Given the description of an element on the screen output the (x, y) to click on. 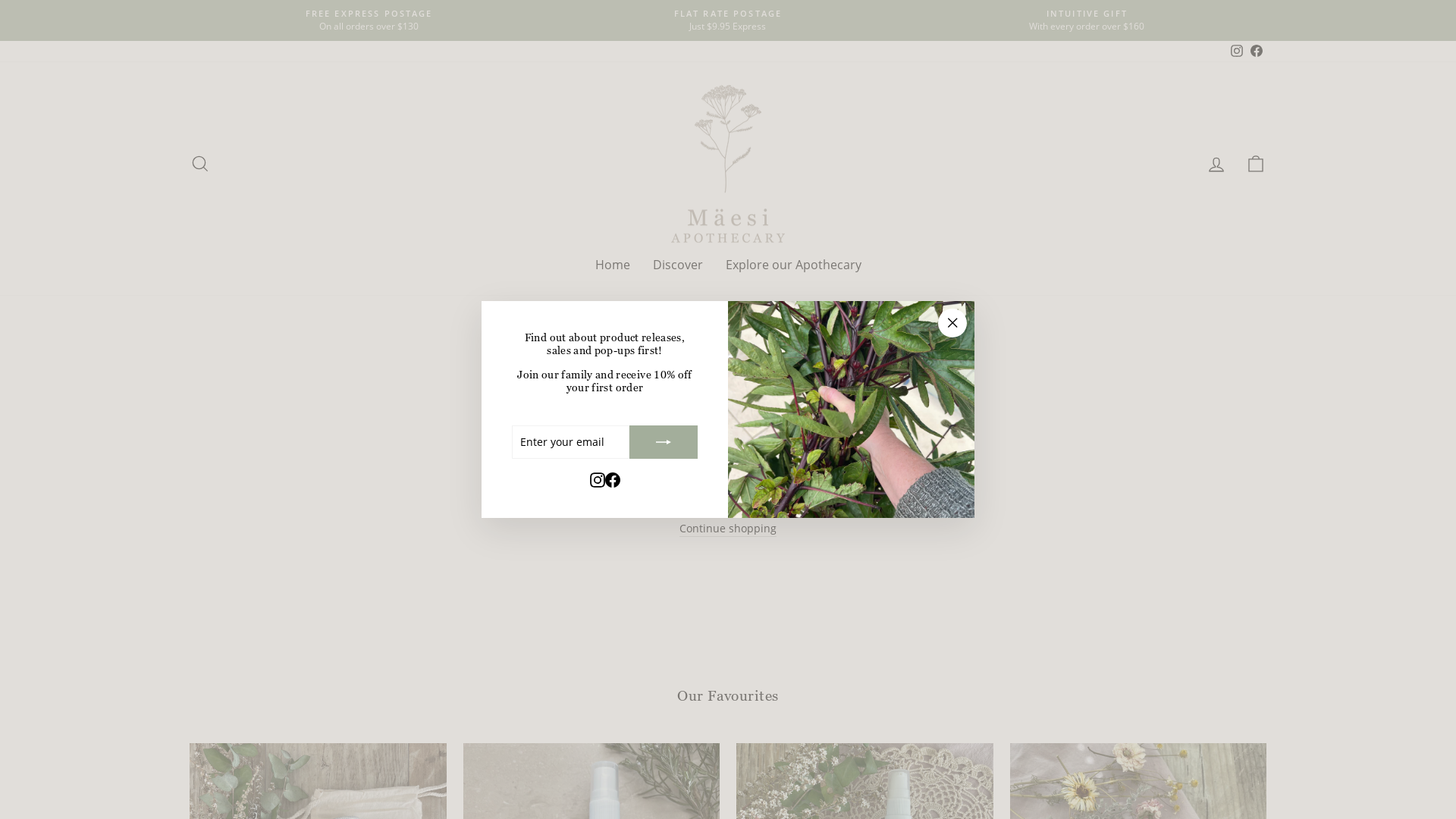
"Close (esc)" Element type: text (952, 322)
Log in Element type: text (1216, 163)
Instagram Element type: text (1236, 51)
Continue shopping Element type: text (727, 528)
Facebook Element type: text (612, 478)
Facebook Element type: text (1256, 51)
Cart Element type: text (1255, 163)
Search Element type: text (199, 163)
Instagram Element type: text (597, 478)
Home Element type: text (612, 264)
Explore our Apothecary Element type: text (793, 264)
Discover Element type: text (677, 264)
